Given the description of an element on the screen output the (x, y) to click on. 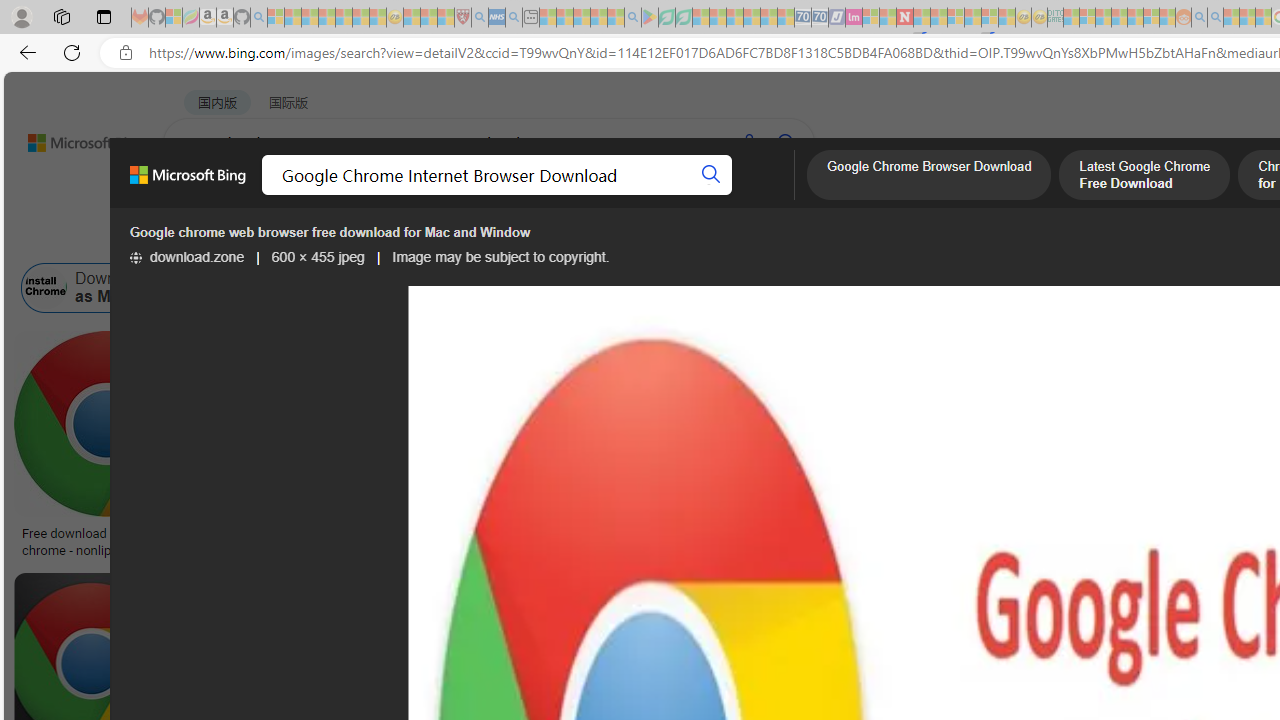
MY BING (276, 195)
DICT (717, 195)
ACADEMIC (635, 195)
People (520, 237)
Image result for Google Chrome Internet Browser Download (722, 617)
